Given the description of an element on the screen output the (x, y) to click on. 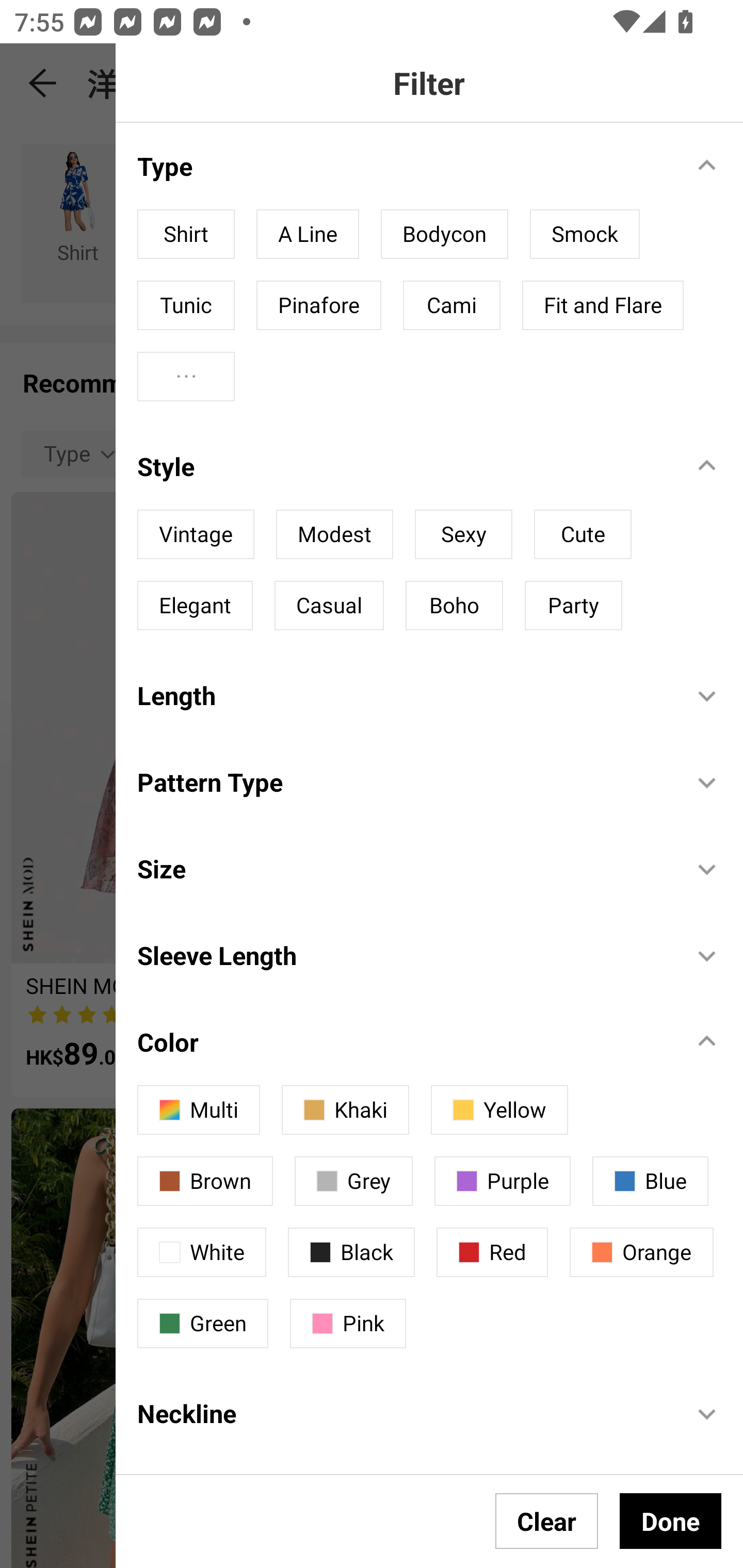
Type (403, 166)
Shirt (185, 234)
A Line (307, 234)
Bodycon (444, 234)
Smock (584, 234)
Tunic (185, 305)
Pinafore (318, 305)
Cami (451, 305)
Fit and Flare (602, 305)
Style (403, 466)
Vintage (195, 534)
Modest (334, 534)
Sexy (463, 534)
Cute (582, 534)
Elegant (194, 605)
Casual (329, 605)
Boho (454, 605)
Party (573, 605)
Length (403, 695)
Pattern Type (403, 781)
Size (403, 868)
Sleeve Length (403, 954)
Color (403, 1041)
Multi (198, 1110)
Khaki (345, 1110)
Yellow (499, 1110)
Brown (204, 1181)
Grey (353, 1181)
Purple (502, 1181)
Blue (650, 1181)
White (201, 1251)
Black (351, 1251)
Red (492, 1251)
Orange (641, 1251)
Green (202, 1323)
Pink (347, 1323)
Neckline (403, 1413)
Clear (546, 1520)
Done (670, 1520)
